Given the description of an element on the screen output the (x, y) to click on. 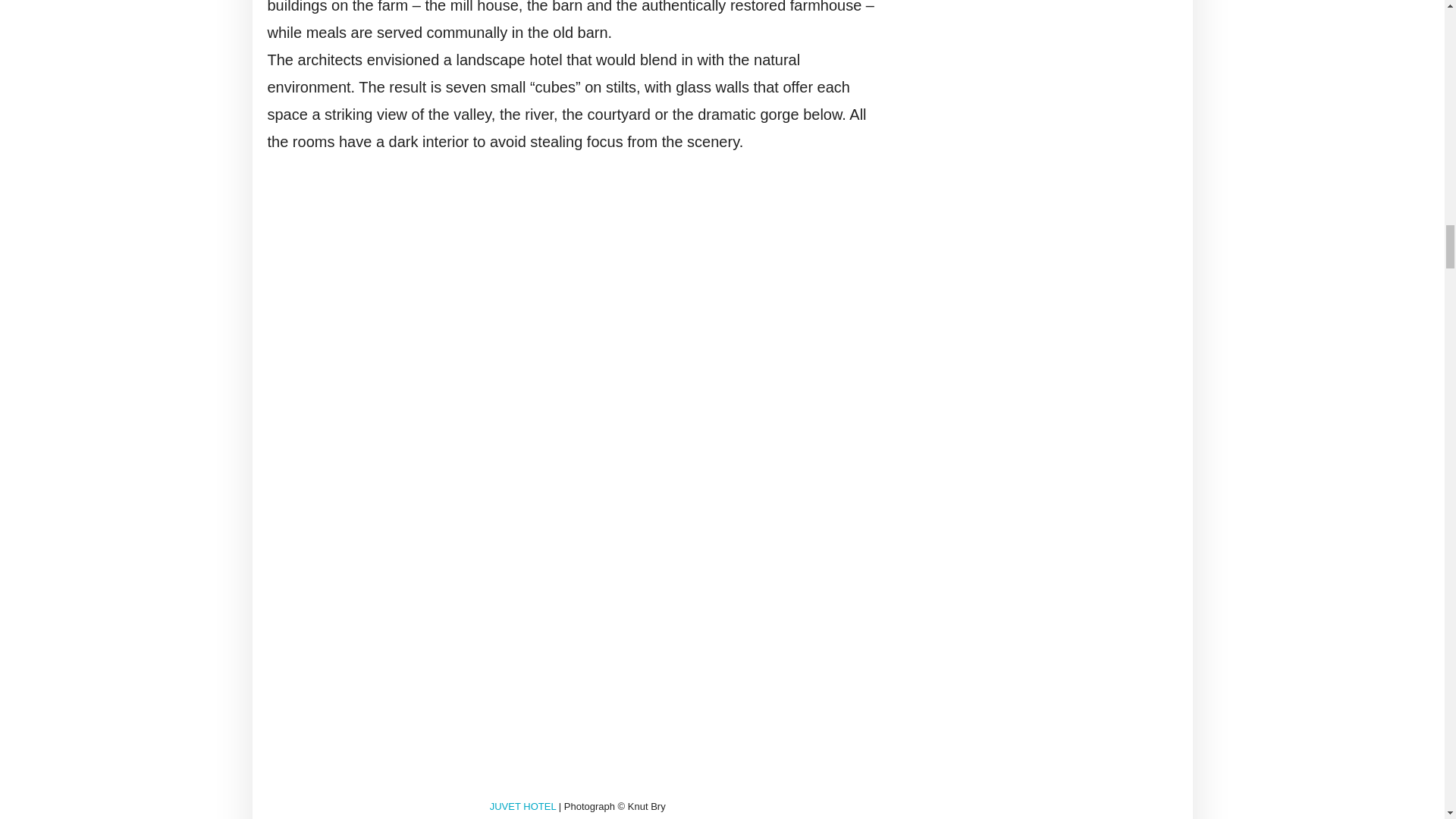
JUVET HOTEL (522, 806)
